Given the description of an element on the screen output the (x, y) to click on. 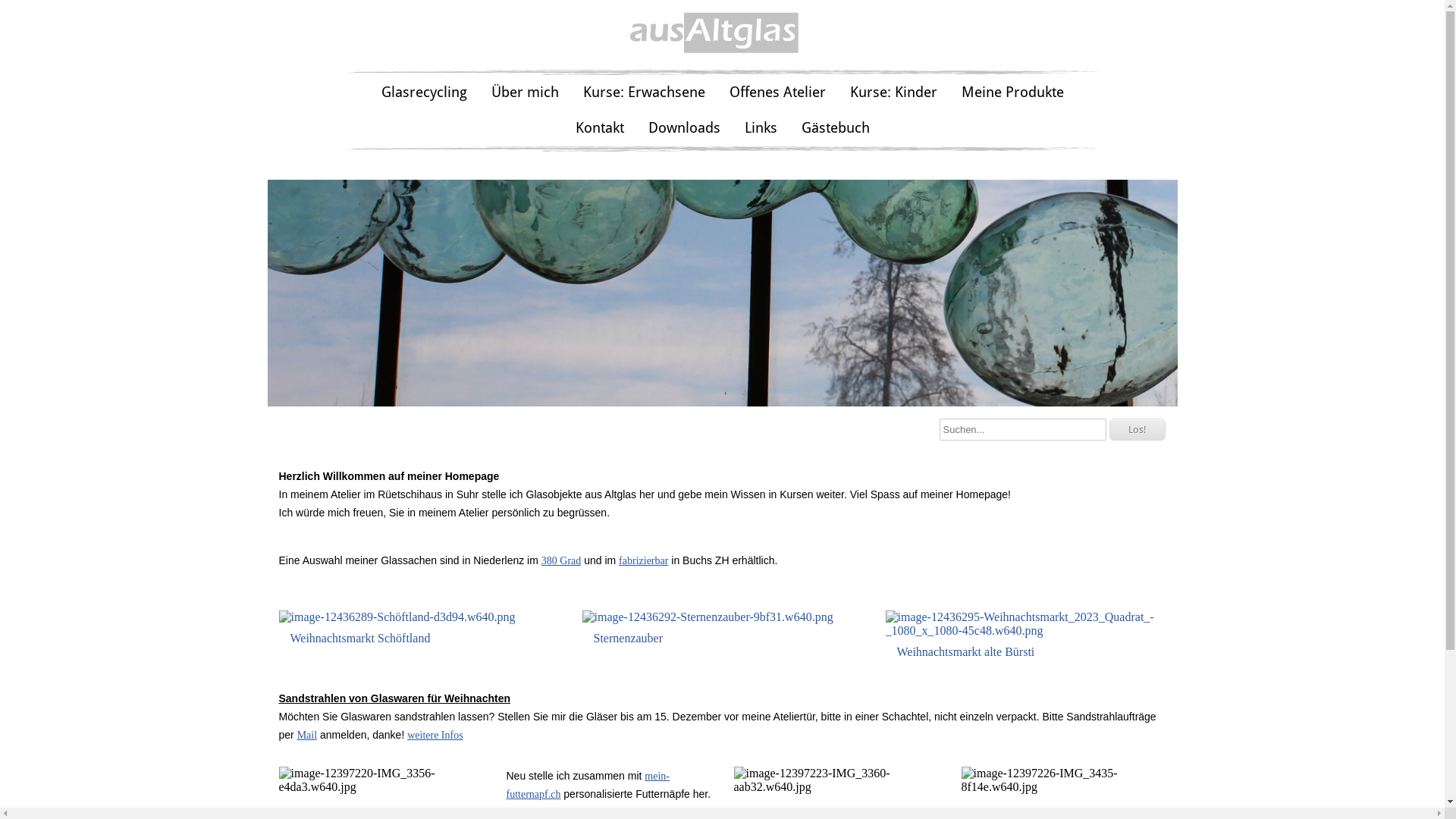
Offenes Atelier Element type: text (777, 92)
Kurse: Kinder Element type: text (892, 92)
weitere Infos Element type: text (434, 734)
Mail Element type: text (306, 734)
fabrizierbar Element type: text (643, 560)
mein-futternapf.ch Element type: text (588, 785)
Links Element type: text (760, 128)
Sternenzauber Element type: text (707, 631)
Glasrecycling Element type: text (423, 92)
Los! Element type: text (1136, 429)
Kurse: Erwachsene Element type: text (643, 92)
Meine Produkte Element type: text (1012, 92)
Kontakt Element type: text (598, 128)
Downloads Element type: text (683, 128)
380 Grad Element type: text (561, 560)
